Given the description of an element on the screen output the (x, y) to click on. 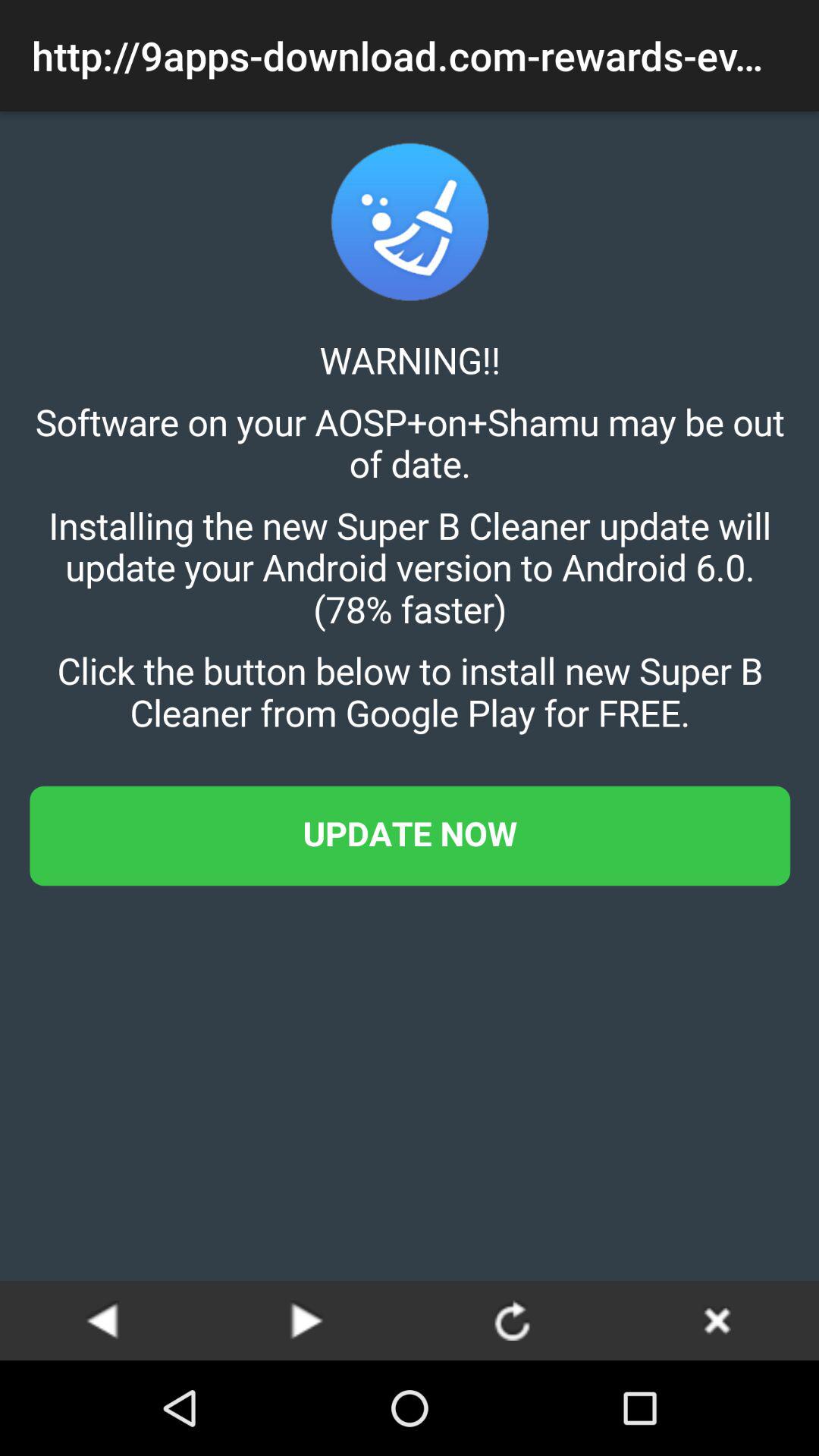
go next (306, 1320)
